Given the description of an element on the screen output the (x, y) to click on. 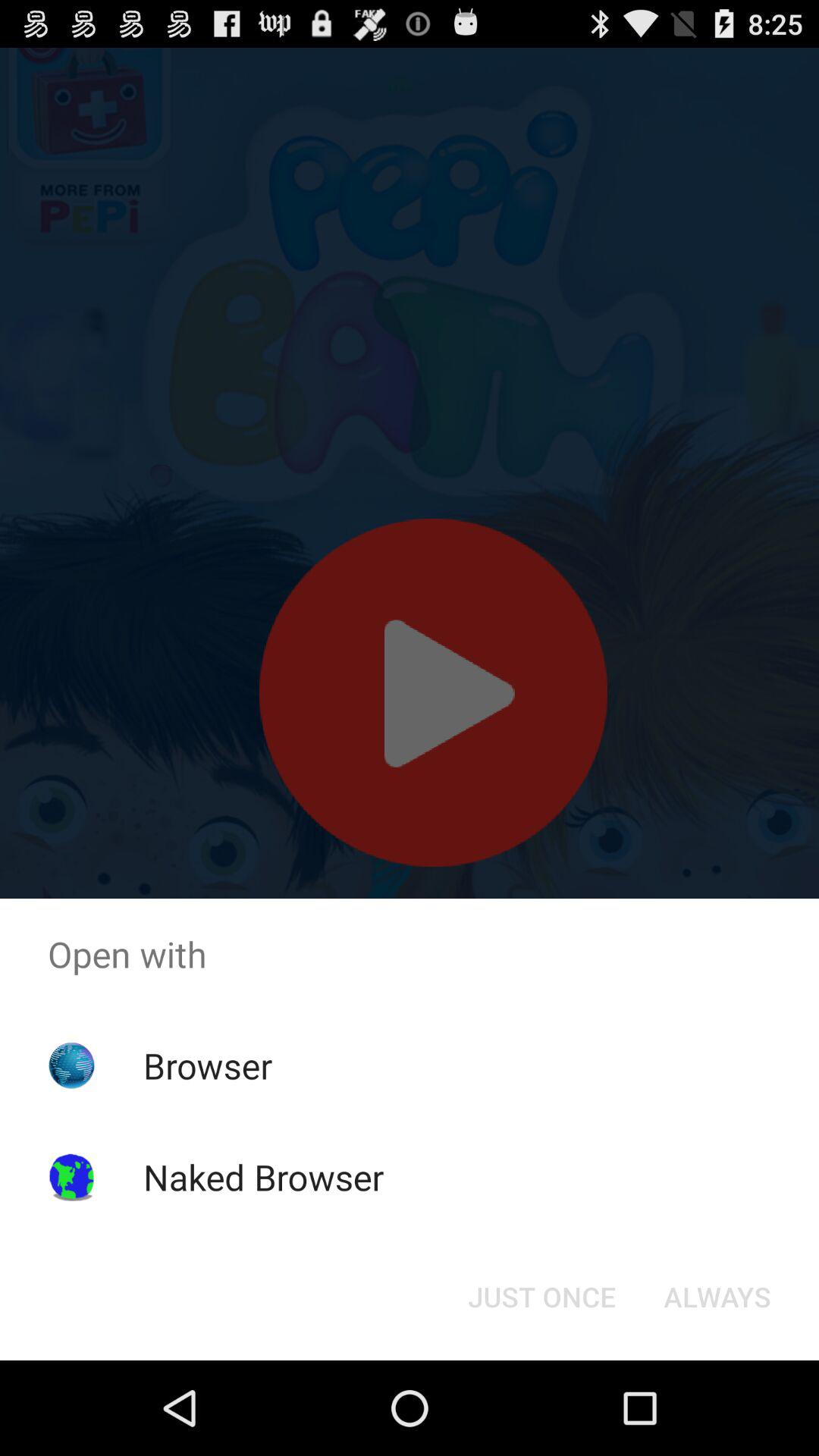
choose item next to just once (717, 1296)
